Given the description of an element on the screen output the (x, y) to click on. 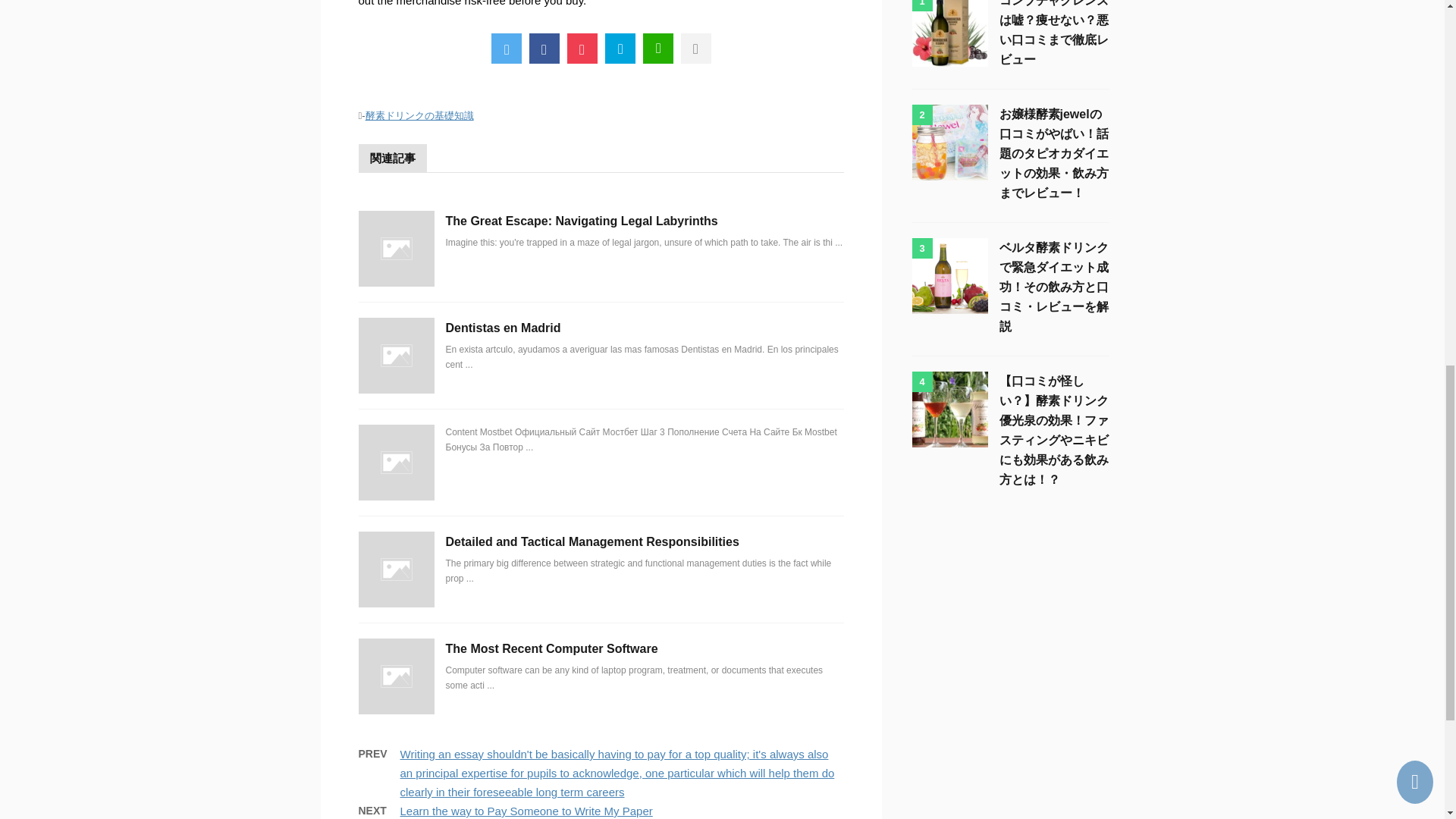
no image (395, 676)
The Great Escape: Navigating Legal Labyrinths (581, 220)
Finest Antivirus Website (619, 48)
no image (395, 355)
no image (395, 462)
no image (395, 248)
Detailed and Tactical Management Responsibilities (592, 541)
no image (395, 569)
The Most Recent Computer Software (551, 648)
